Given the description of an element on the screen output the (x, y) to click on. 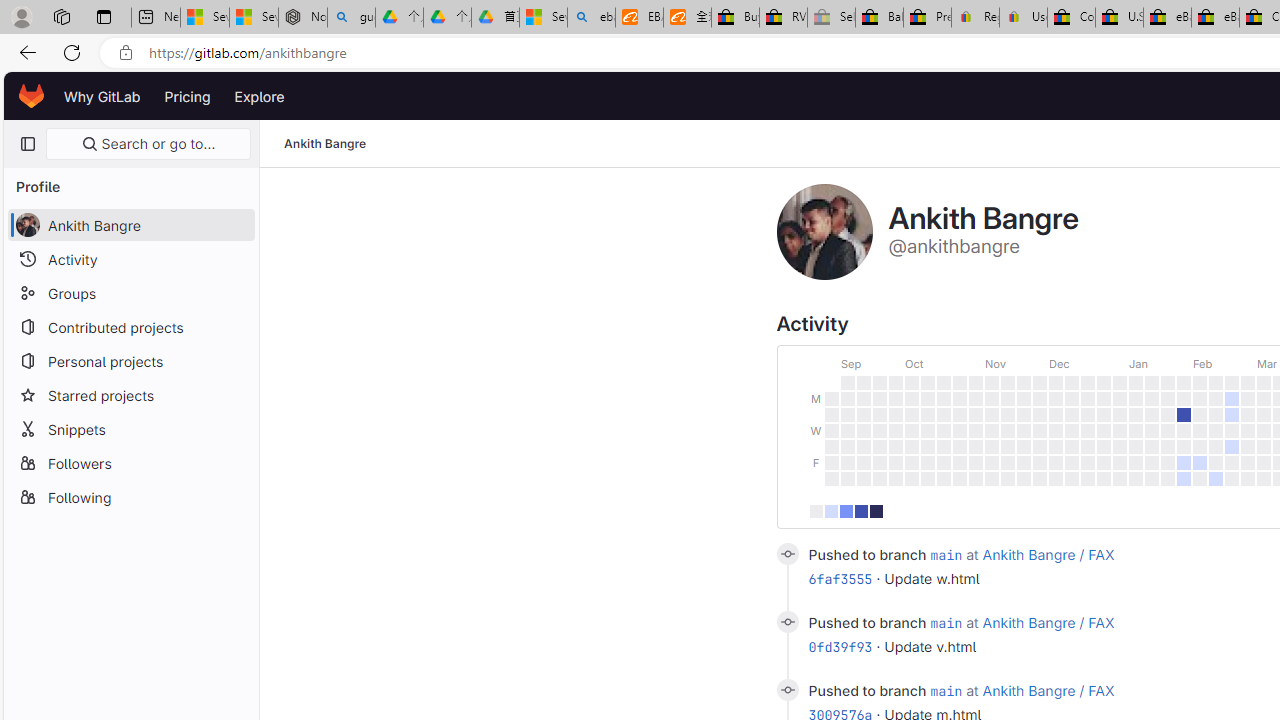
Pricing (187, 95)
Followers (130, 462)
